Given the description of an element on the screen output the (x, y) to click on. 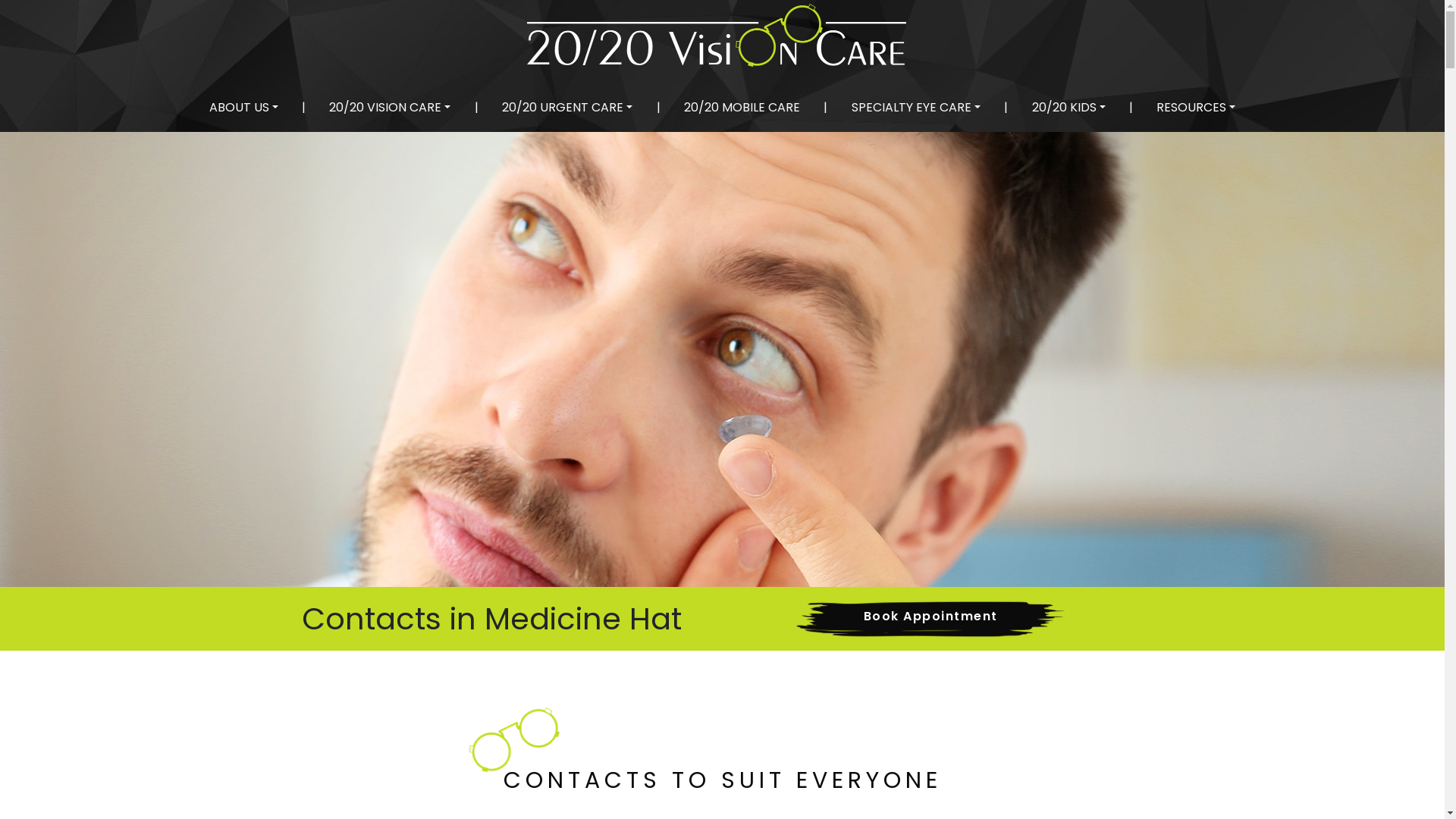
20/20 KIDS Element type: text (1068, 106)
RESOURCES Element type: text (1195, 106)
20/20 VISION CARE Element type: text (389, 106)
ABOUT US Element type: text (243, 106)
20/20 MOBILE CARE Element type: text (741, 106)
SPECIALTY EYE CARE Element type: text (915, 106)
Book Appointment Element type: text (930, 618)
20/20 URGENT CARE Element type: text (566, 106)
